Given the description of an element on the screen output the (x, y) to click on. 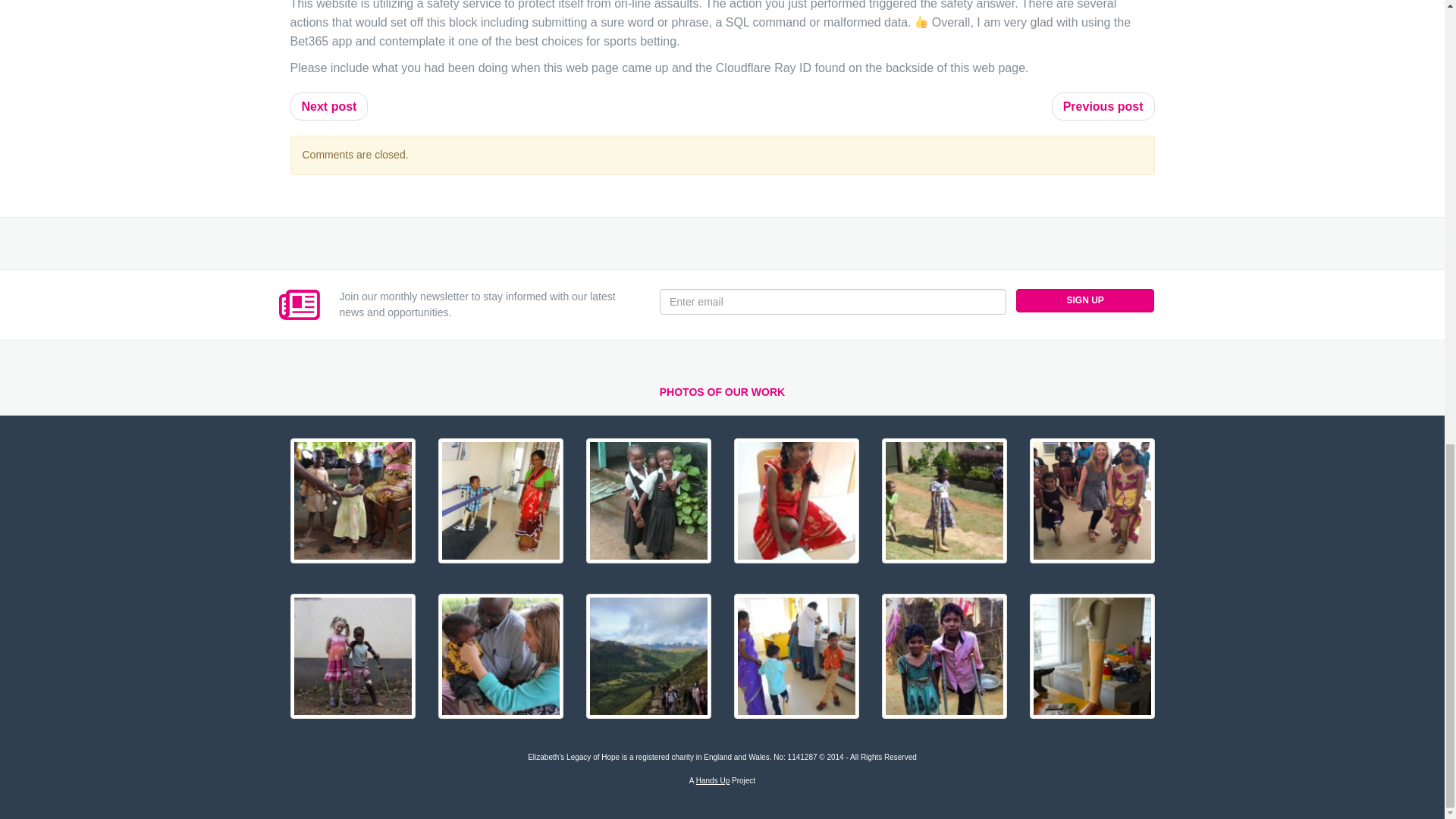
Previous post (1102, 106)
Next post (328, 106)
SIGN UP (1085, 300)
